Given the description of an element on the screen output the (x, y) to click on. 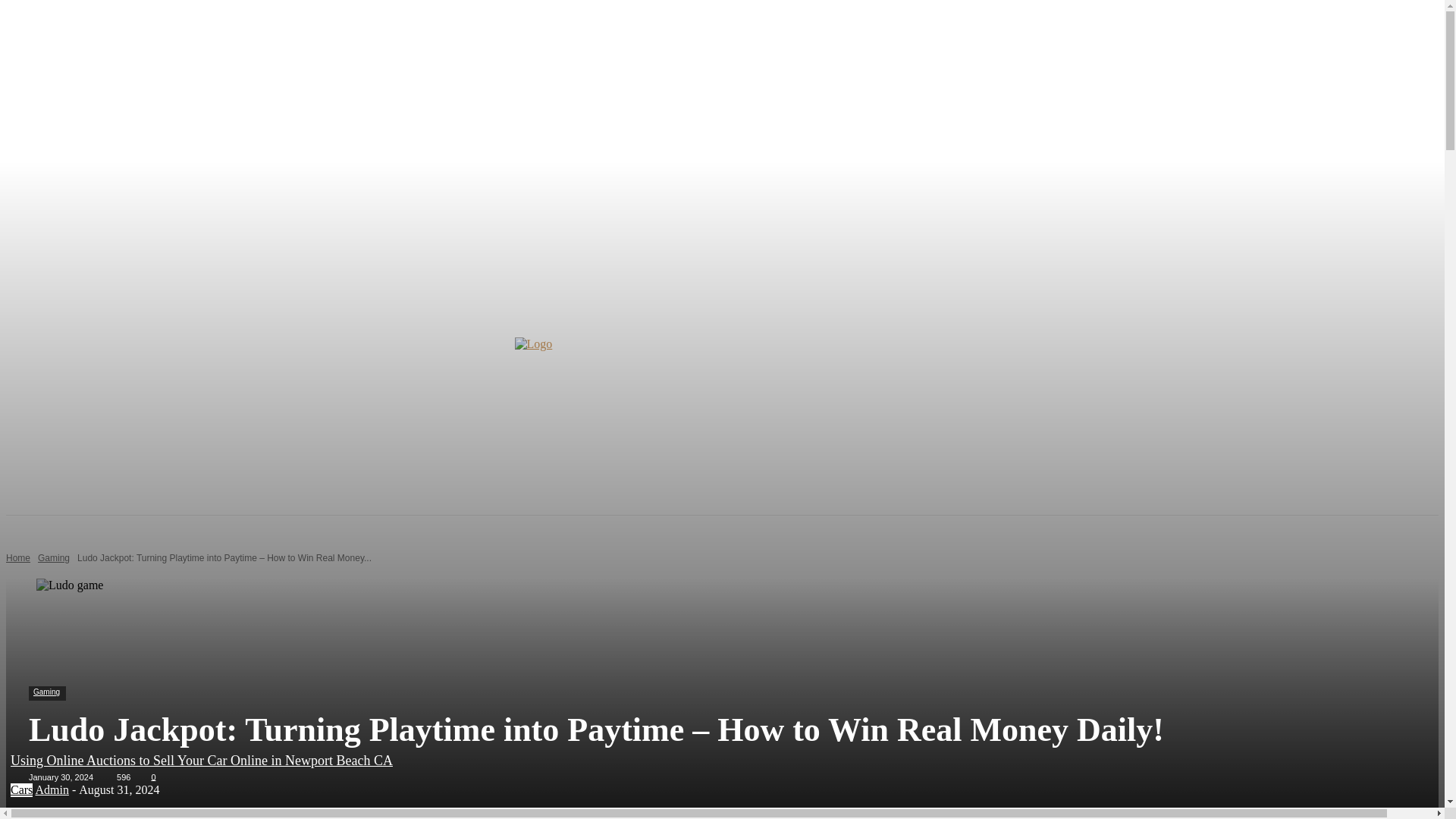
0 (151, 776)
Home (17, 557)
View all posts in Gaming (53, 557)
Gaming (46, 692)
Gaming (53, 557)
